Given the description of an element on the screen output the (x, y) to click on. 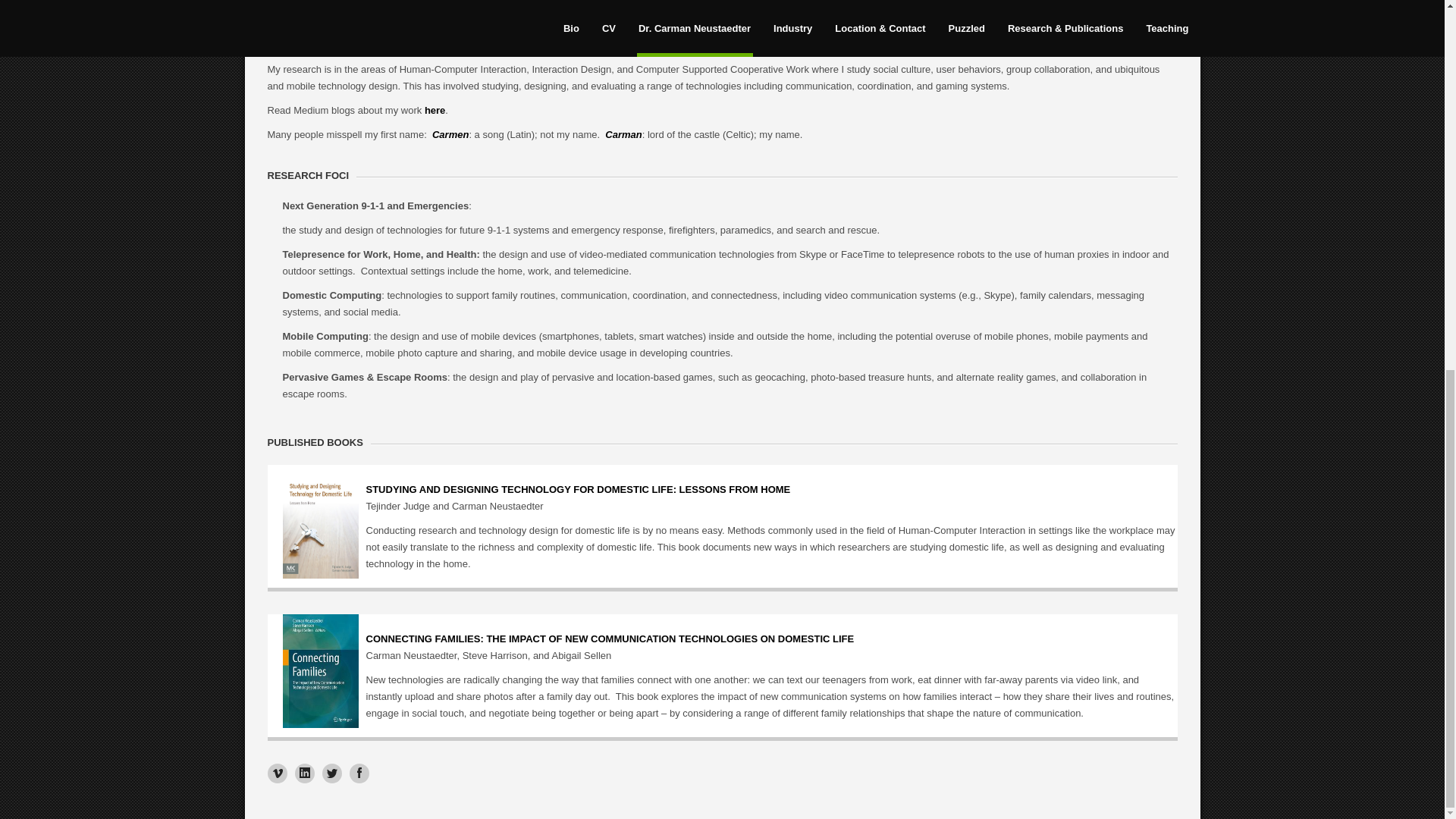
School of Interactive Arts and Technology (767, 28)
SFU (937, 28)
twitter (330, 772)
Connecting Families (609, 646)
Simon Fraser University (937, 28)
vimeo (276, 772)
Lessons from Home (577, 497)
Faculty of Communication, Art, and Technology (464, 28)
SIAT (767, 28)
here (435, 110)
cLab (387, 44)
Carman (623, 134)
Carmen (450, 134)
